Given the description of an element on the screen output the (x, y) to click on. 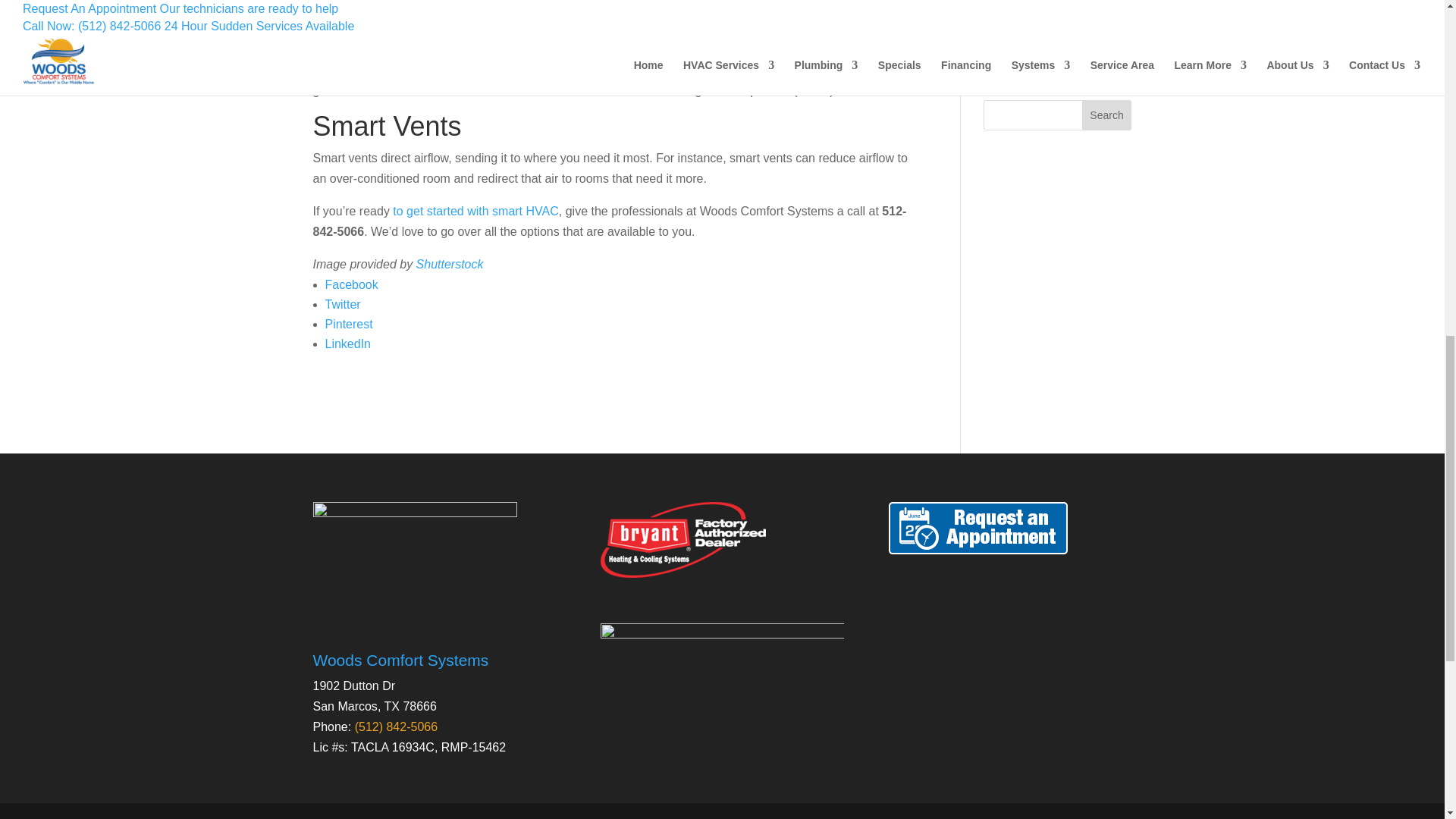
Subscribe to Us (1090, 816)
Like Us on Facebook (1039, 816)
Follow Us on Twitter (1066, 816)
Search (1106, 114)
